Given the description of an element on the screen output the (x, y) to click on. 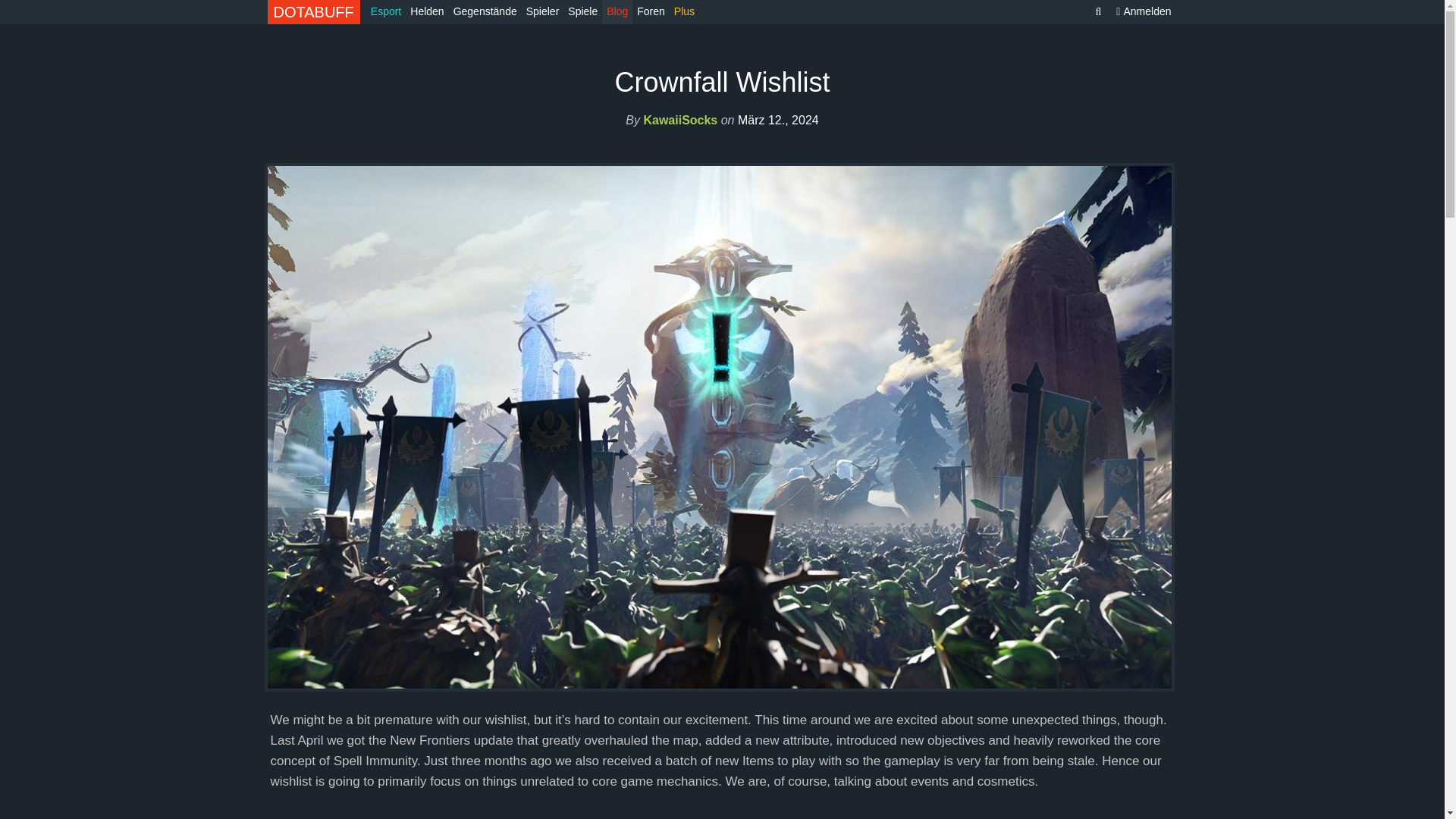
Plus (683, 12)
Anmelden (1142, 12)
Foren (650, 12)
Spiele (582, 12)
Helden (427, 12)
Blog (616, 12)
Esport (386, 12)
DOTABUFF (312, 12)
Spieler (542, 12)
